Given the description of an element on the screen output the (x, y) to click on. 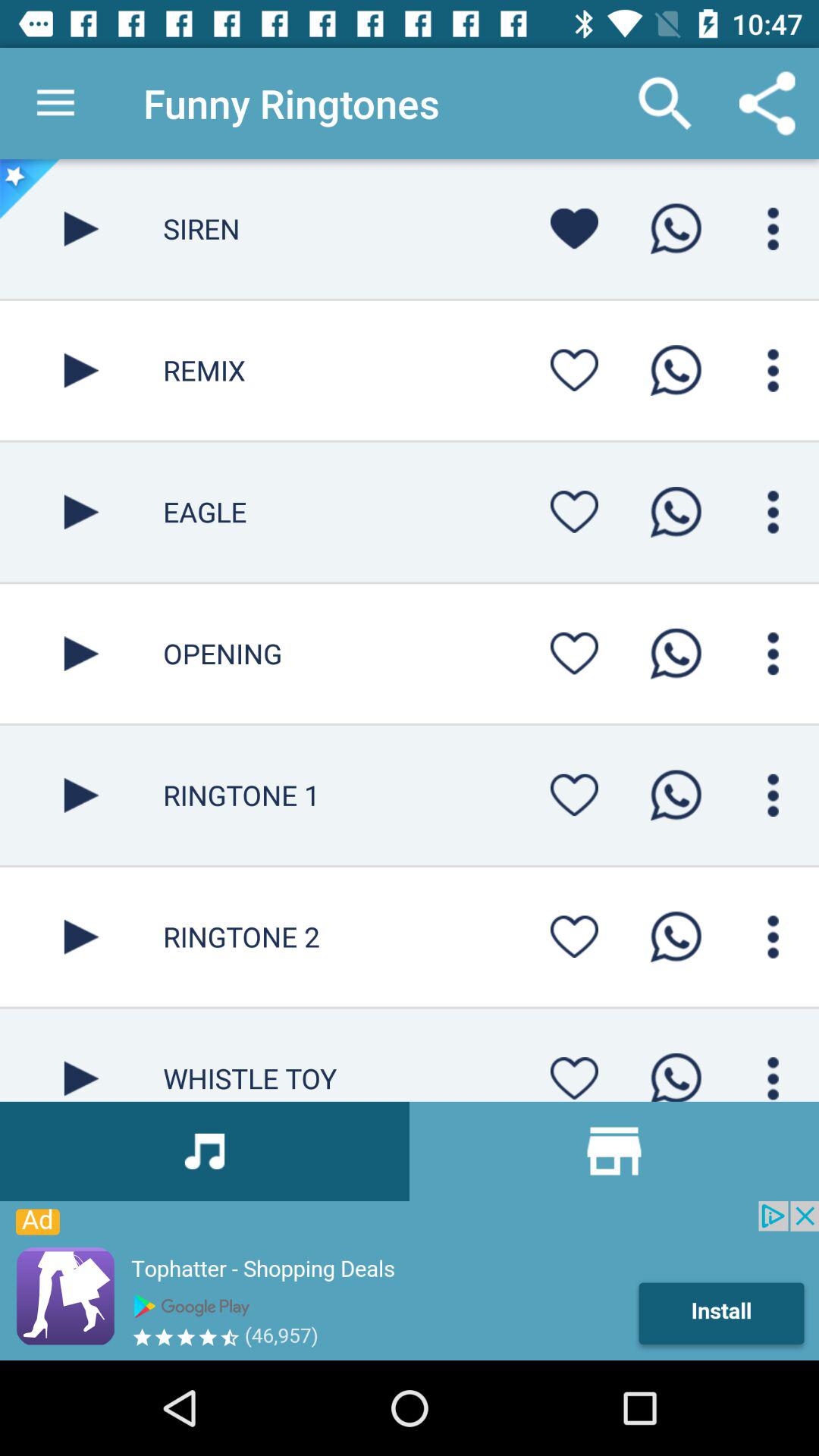
favorites it (574, 794)
